Given the description of an element on the screen output the (x, y) to click on. 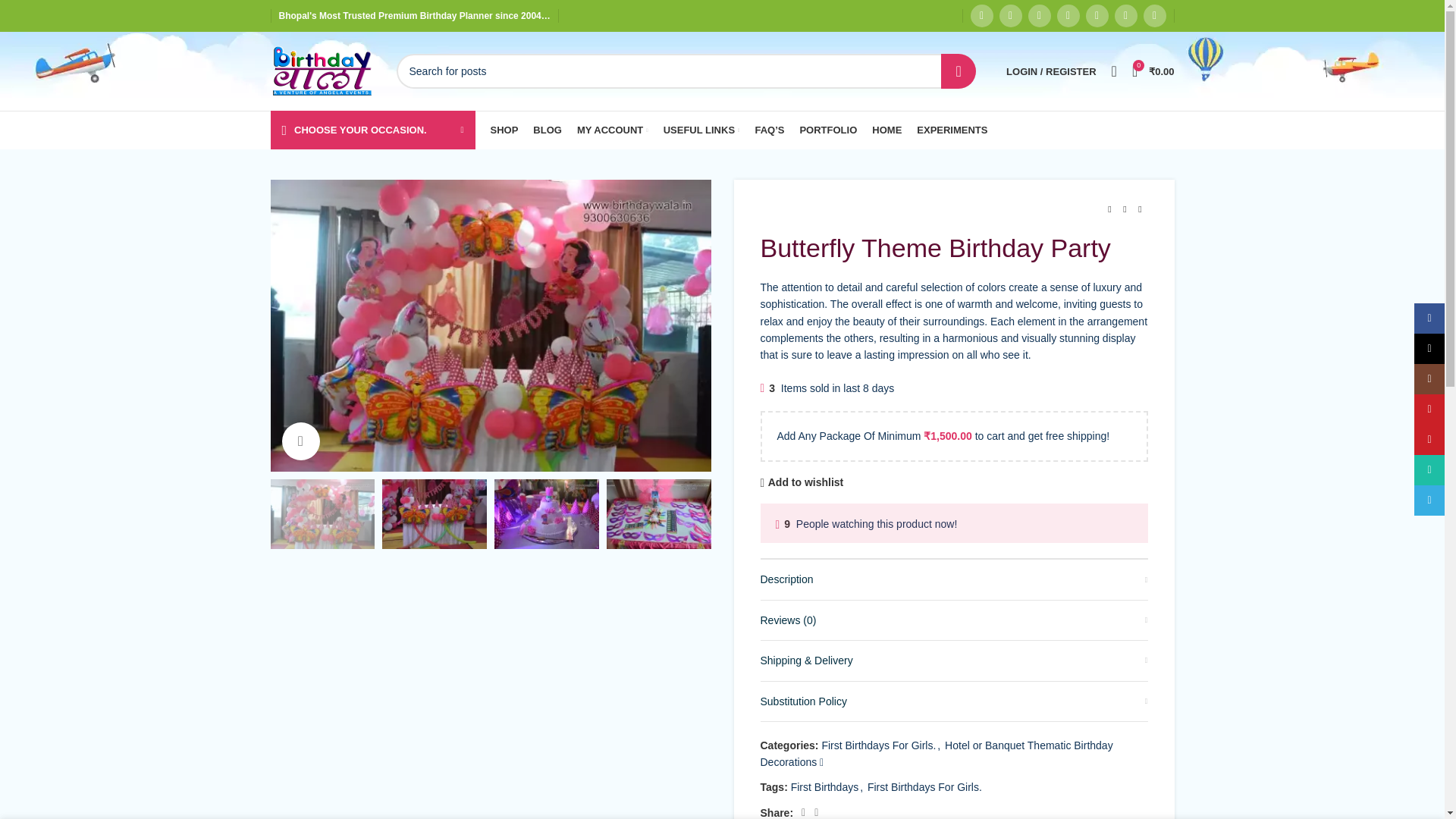
Log in (970, 312)
My account (1050, 71)
Search for posts (685, 71)
SEARCH (957, 71)
Shopping cart (1153, 71)
My Wishlist (1113, 71)
